Given the description of an element on the screen output the (x, y) to click on. 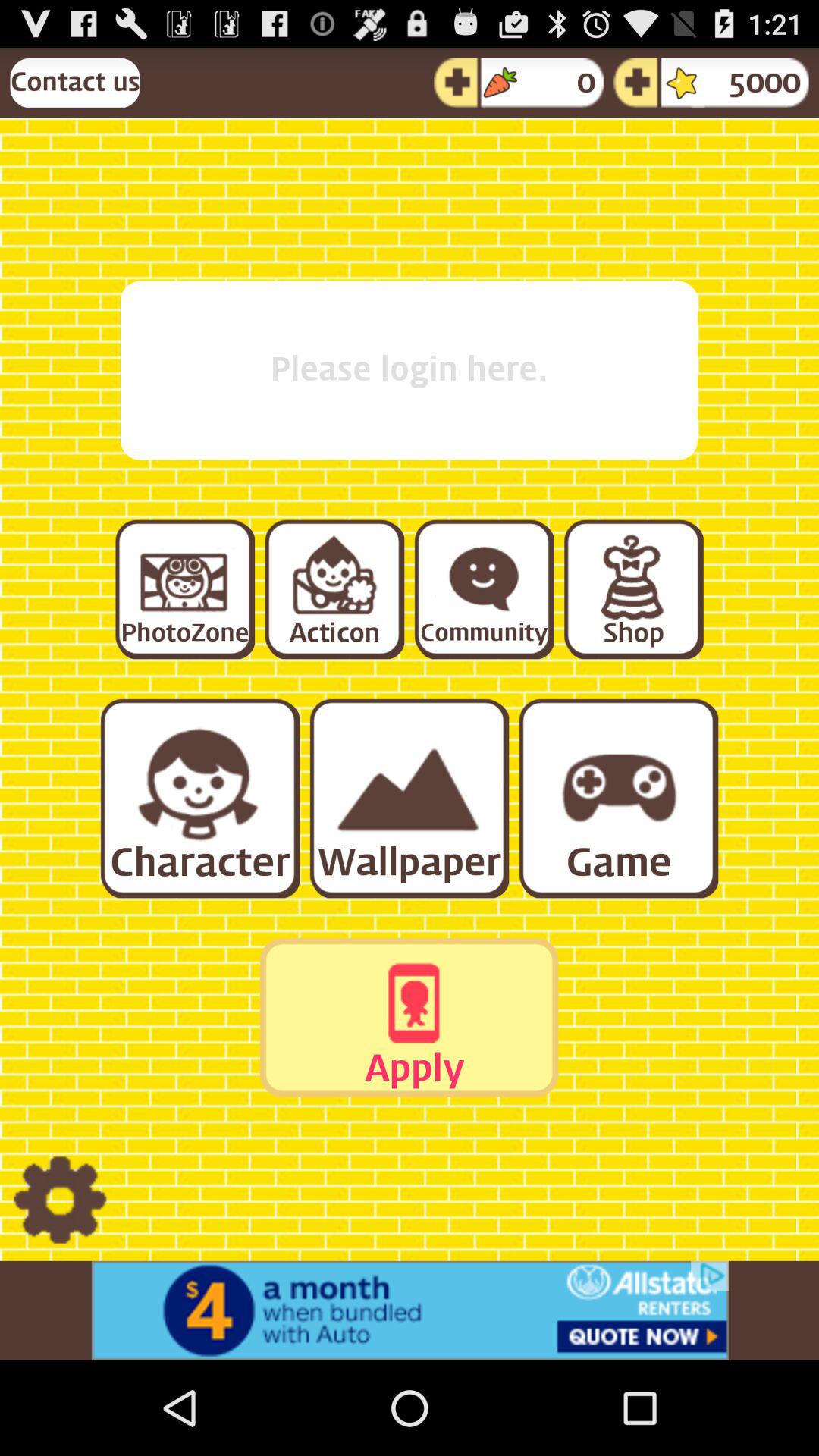
go to community section (483, 588)
